Given the description of an element on the screen output the (x, y) to click on. 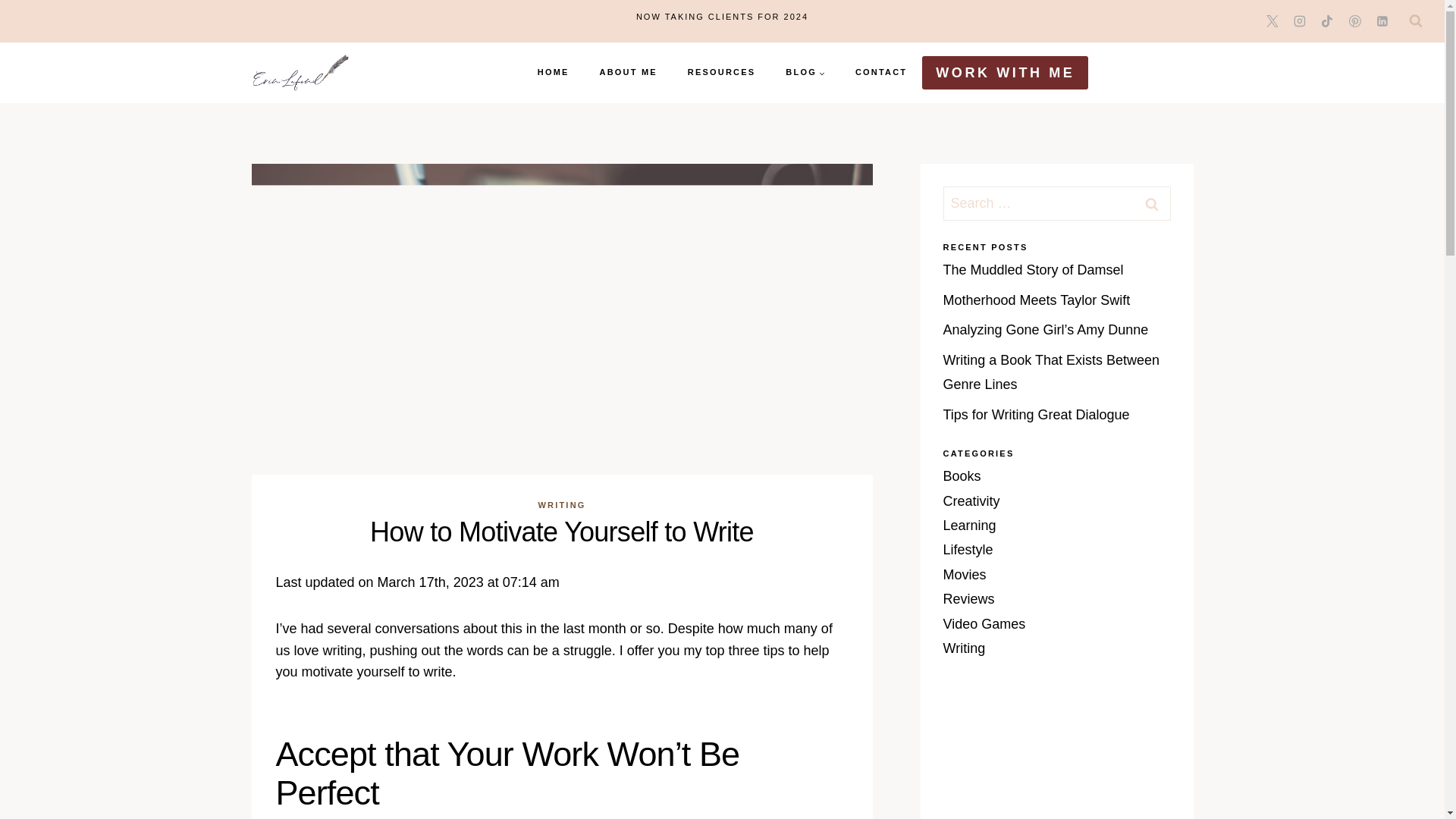
Search (1151, 203)
Motherhood Meets Taylor Swift (1037, 299)
Tips for Writing Great Dialogue (1036, 414)
Movies (965, 574)
ABOUT ME (628, 72)
Search (1151, 203)
CONTACT (880, 72)
HOME (553, 72)
Books (962, 476)
Lifestyle (967, 549)
Writing a Book That Exists Between Genre Lines (1050, 372)
WORK WITH ME (1004, 72)
BLOG (805, 72)
Learning (969, 525)
Search (1151, 203)
